Given the description of an element on the screen output the (x, y) to click on. 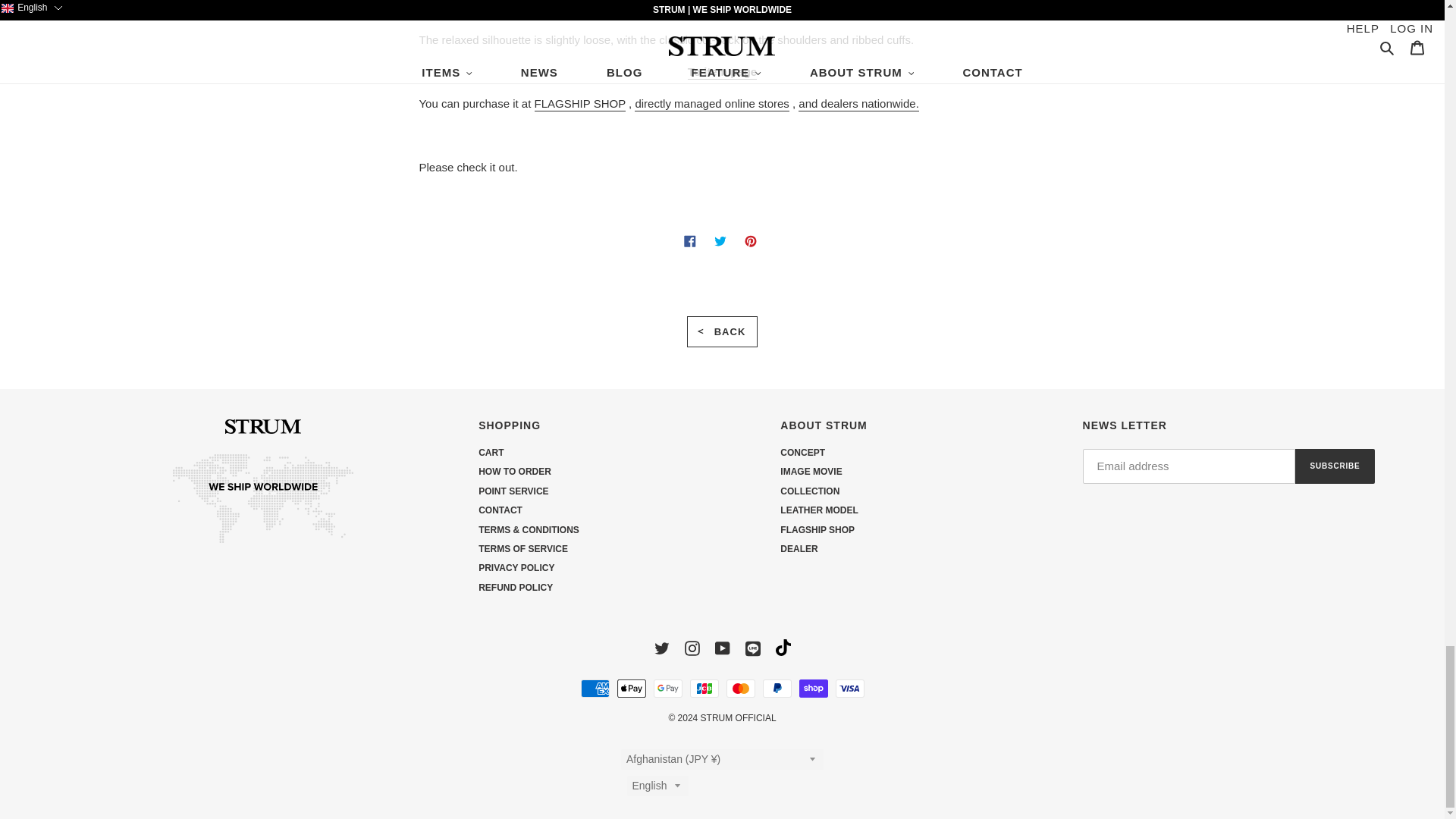
PayPal (777, 688)
Apple Pay (631, 688)
JCB (704, 688)
American Express (595, 688)
Visa (849, 688)
Google Pay (667, 688)
Mastercard (740, 688)
Shop Pay (813, 688)
